Given the description of an element on the screen output the (x, y) to click on. 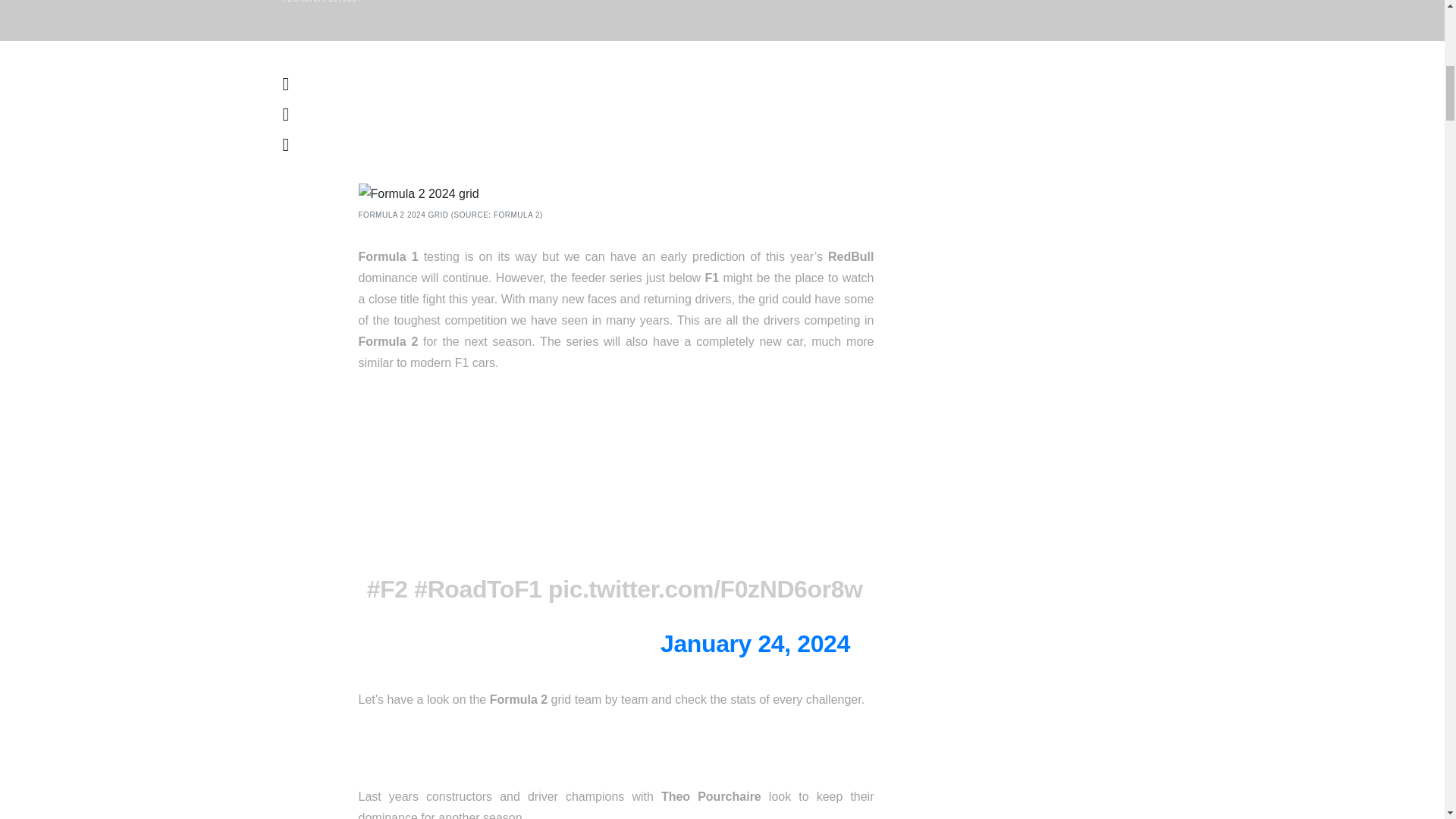
FEBRUARY 22, 2024 (321, 1)
